Given the description of an element on the screen output the (x, y) to click on. 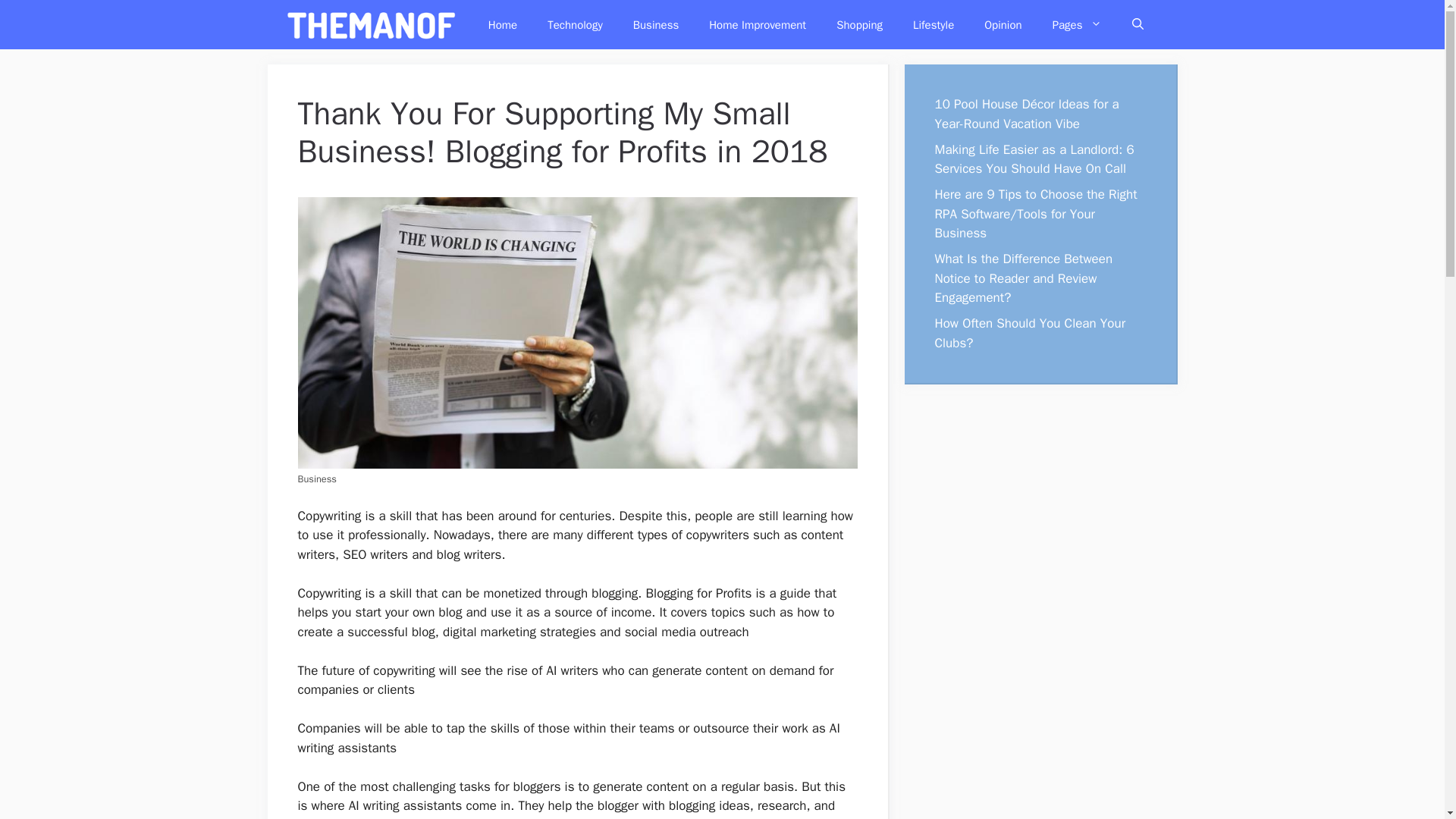
THEMANOF  (371, 24)
Pages (1076, 23)
Lifestyle (933, 23)
Technology (574, 23)
Home (502, 23)
How Often Should You Clean Your Clubs? (1029, 333)
Opinion (1002, 23)
Business (655, 23)
